Given the description of an element on the screen output the (x, y) to click on. 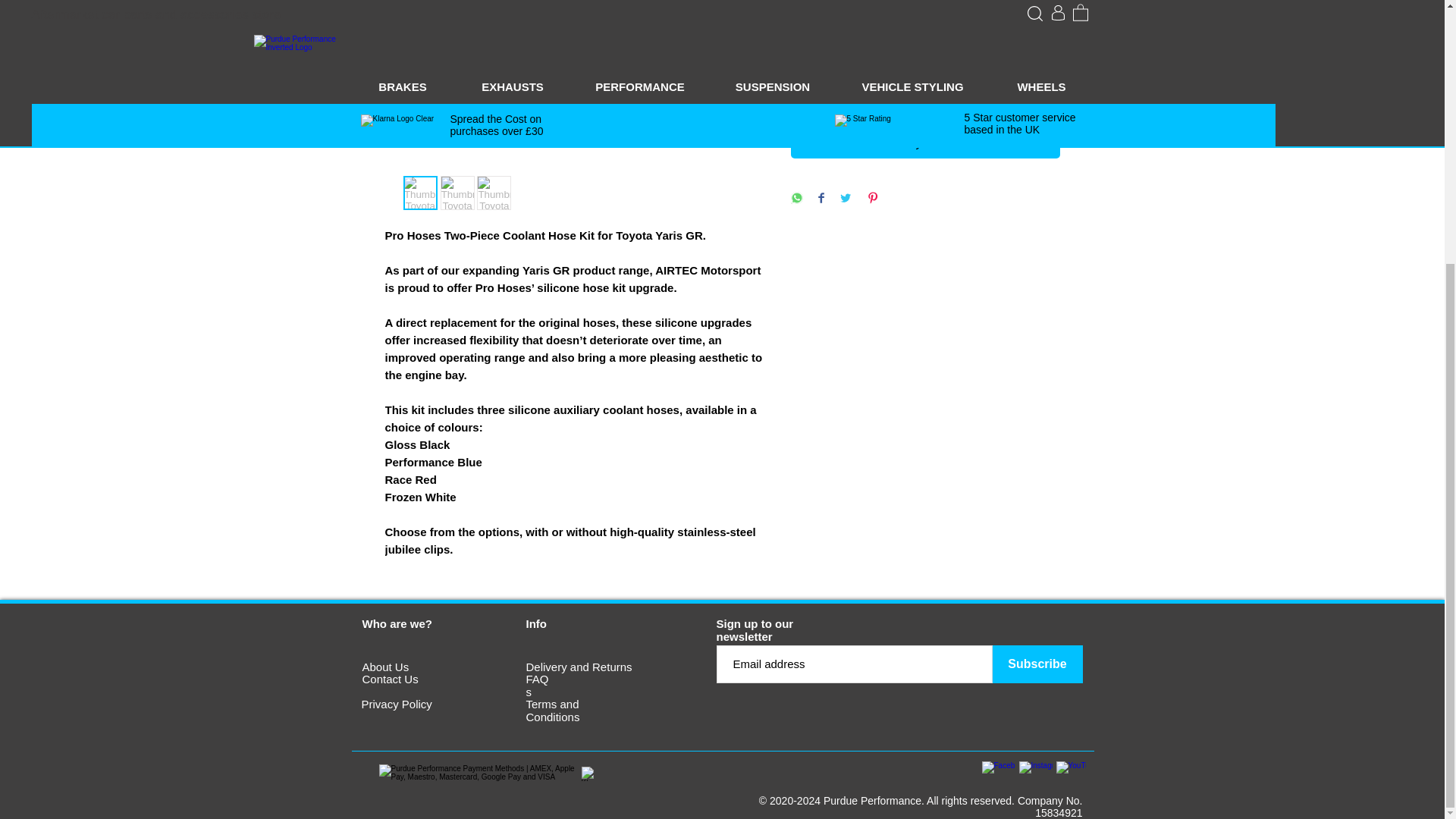
Payment Methods - Purdue Performane (479, 773)
1 (817, 50)
